Given the description of an element on the screen output the (x, y) to click on. 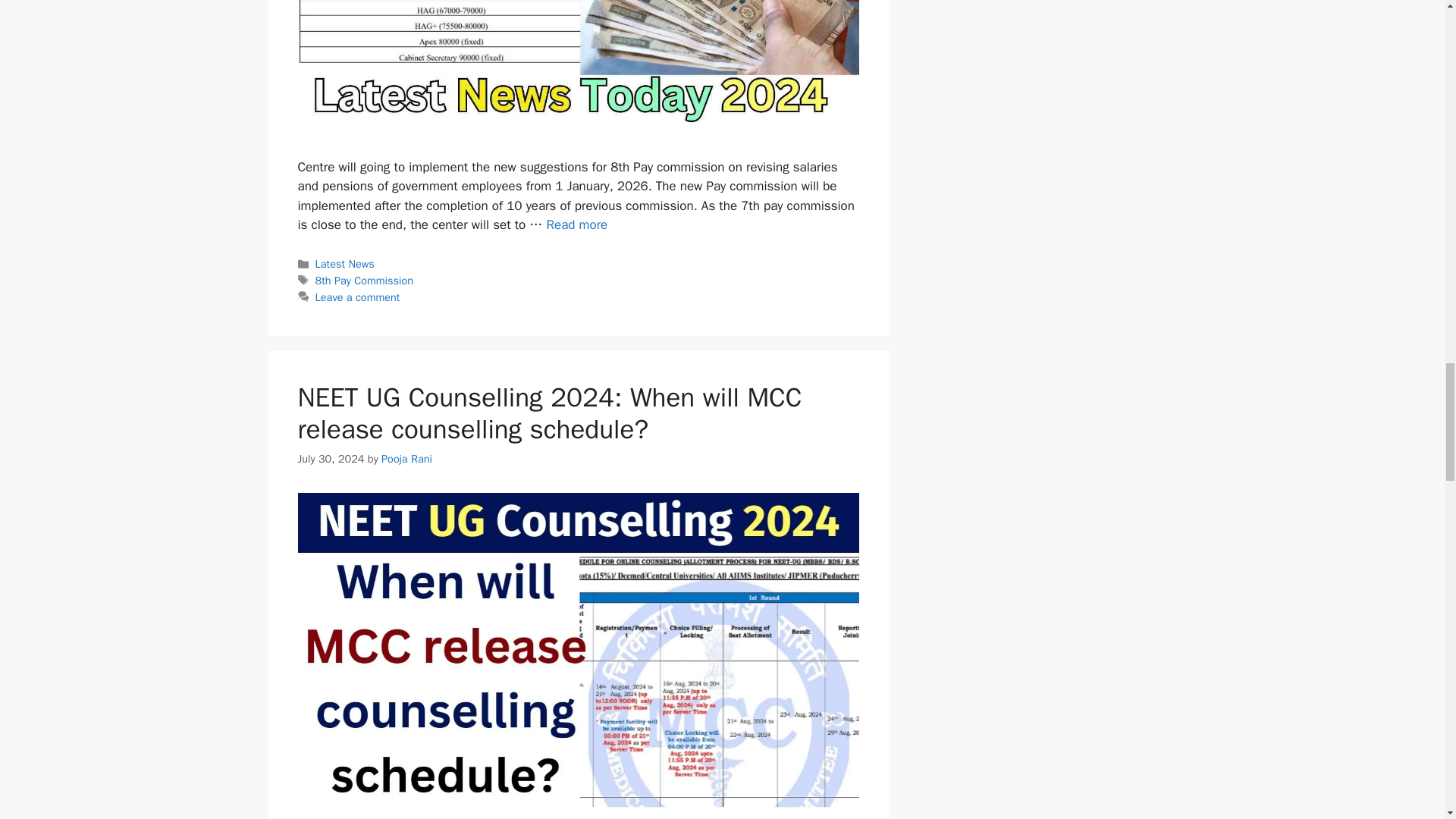
Leave a comment (357, 296)
View all posts by Pooja Rani (406, 459)
8th Pay Commission (364, 280)
8th Pay Commission Latest News Today 2024 (576, 224)
Latest News (344, 264)
Pooja Rani (406, 459)
Read more (576, 224)
